Given the description of an element on the screen output the (x, y) to click on. 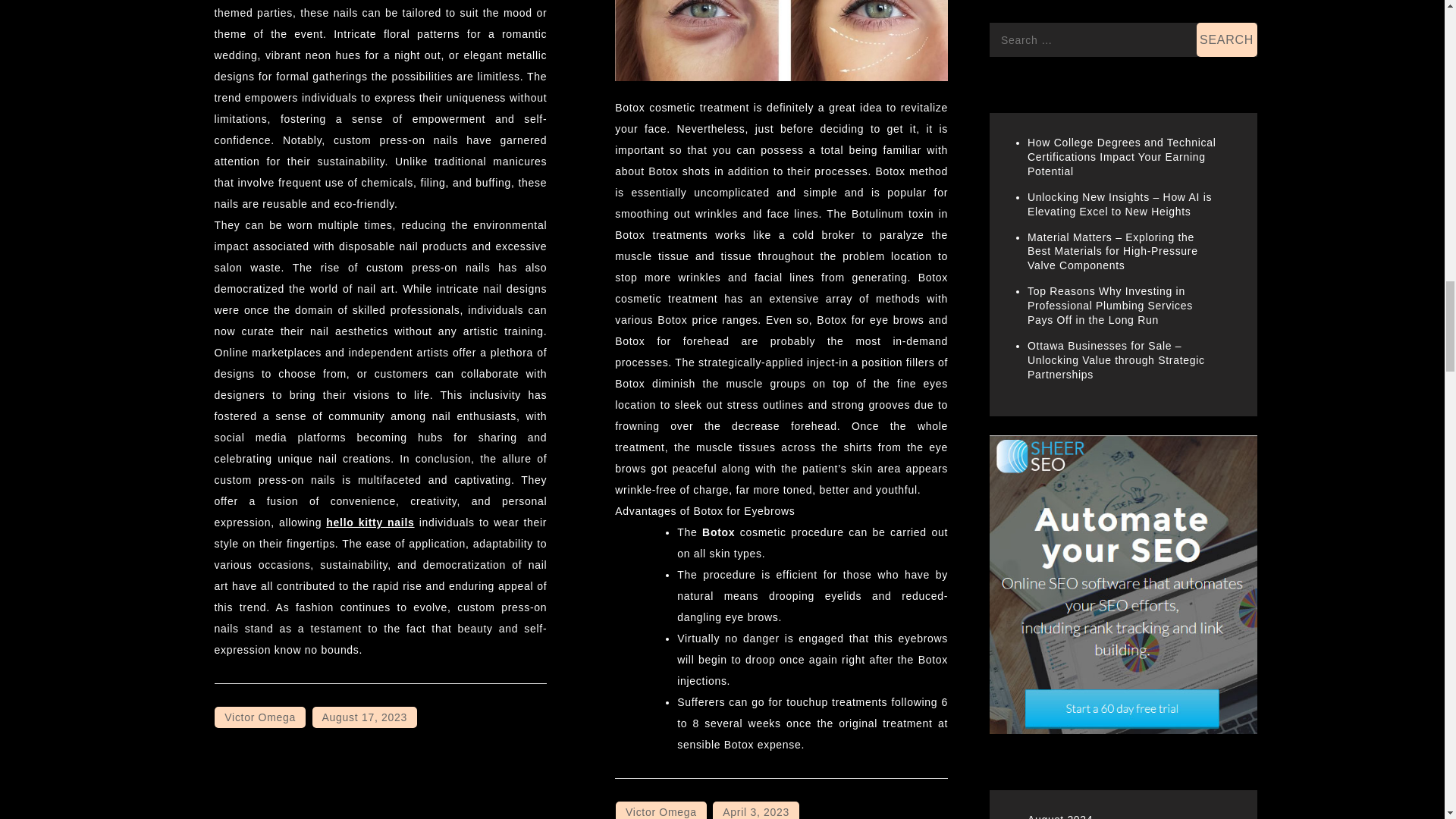
Victor Omega (259, 717)
April 3, 2023 (756, 810)
August 17, 2023 (364, 717)
Victor Omega (660, 810)
Botox (718, 532)
hello kitty nails (369, 522)
